Given the description of an element on the screen output the (x, y) to click on. 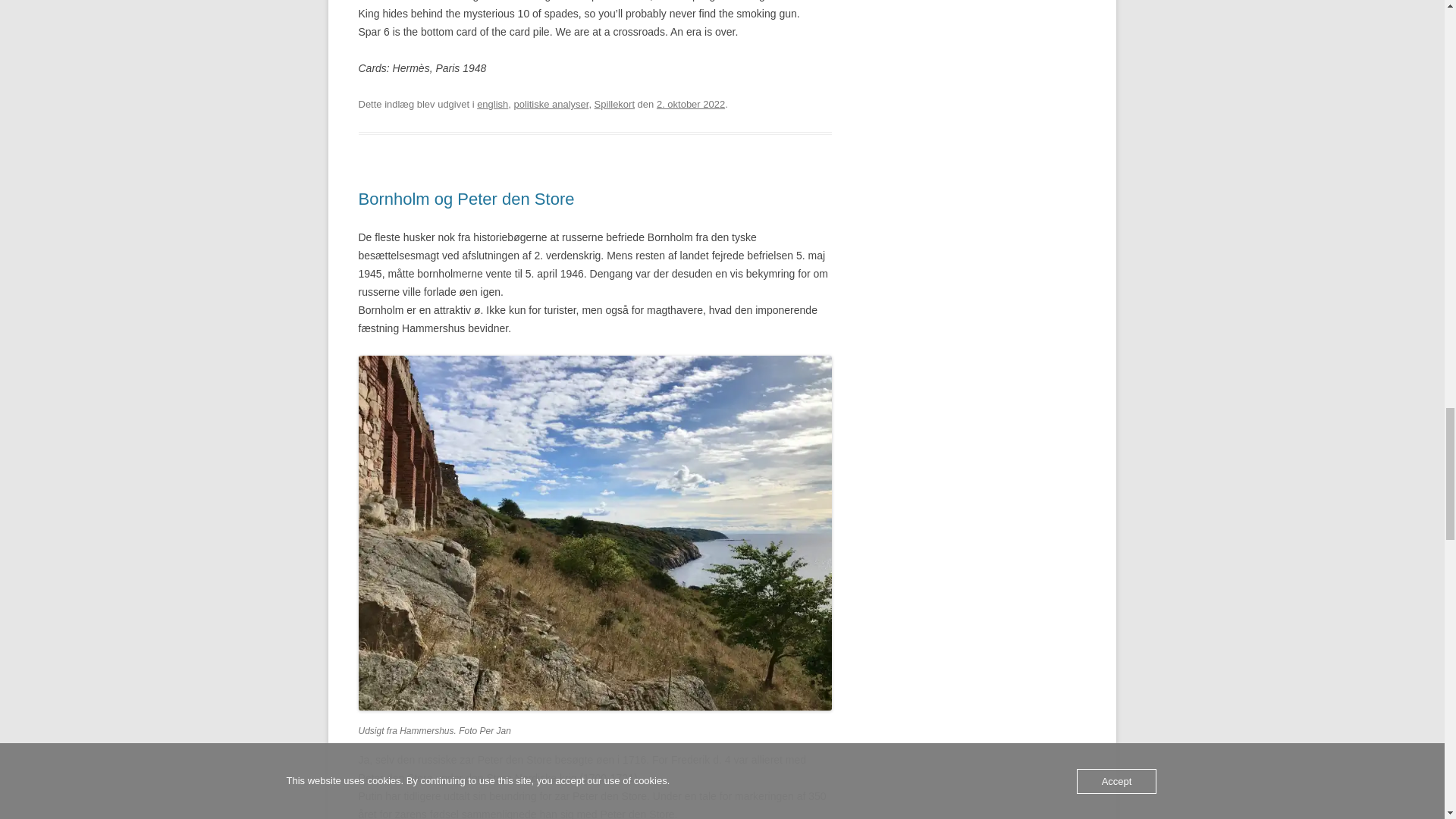
16:00 (690, 103)
politiske analyser (551, 103)
english (492, 103)
Spillekort (614, 103)
Bornholm og Peter den Store (465, 198)
2. oktober 2022 (690, 103)
